Given the description of an element on the screen output the (x, y) to click on. 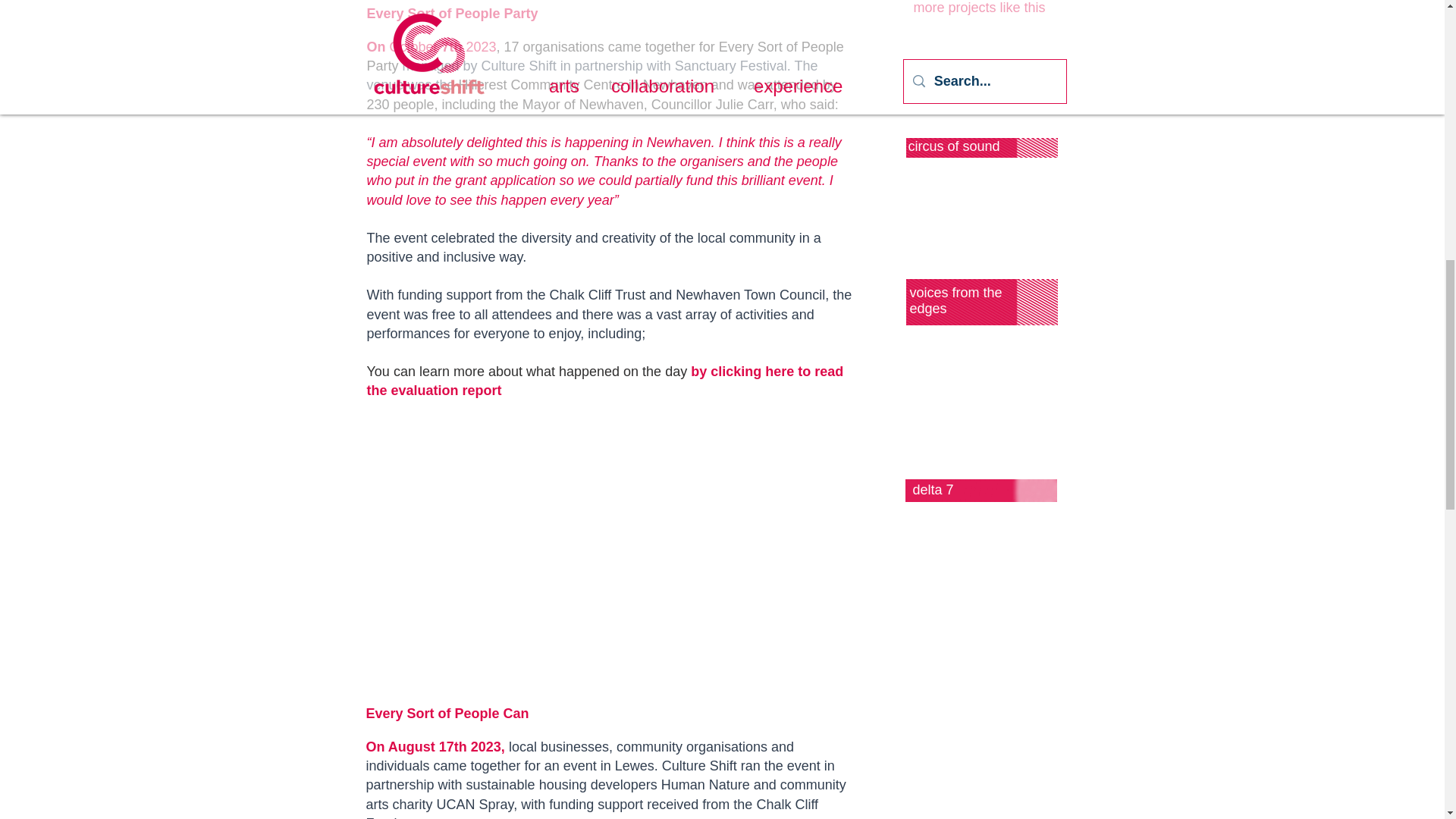
delta 7 (932, 489)
circus of sound (954, 145)
voices from the edges (956, 300)
by clicking here to read the evaluation report (605, 380)
